Given the description of an element on the screen output the (x, y) to click on. 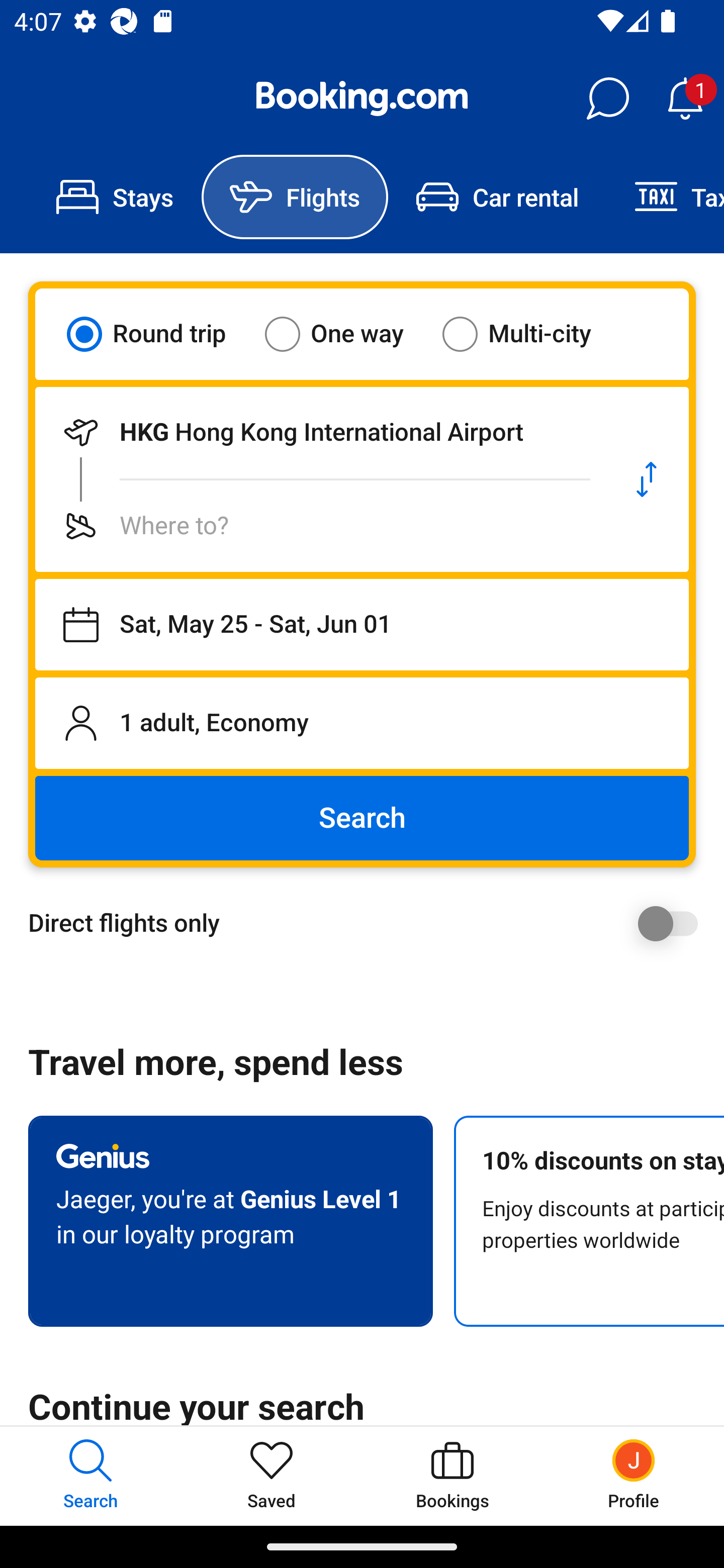
Messages (607, 98)
Notifications (685, 98)
Stays (114, 197)
Flights (294, 197)
Car rental (497, 197)
Taxi (665, 197)
One way (346, 333)
Multi-city (528, 333)
Departing from HKG Hong Kong International Airport (319, 432)
Swap departure location and destination (646, 479)
Flying to  (319, 525)
Departing on Sat, May 25, returning on Sat, Jun 01 (361, 624)
1 adult, Economy (361, 722)
Search (361, 818)
Direct flights only (369, 923)
Saved (271, 1475)
Bookings (452, 1475)
Profile (633, 1475)
